Given the description of an element on the screen output the (x, y) to click on. 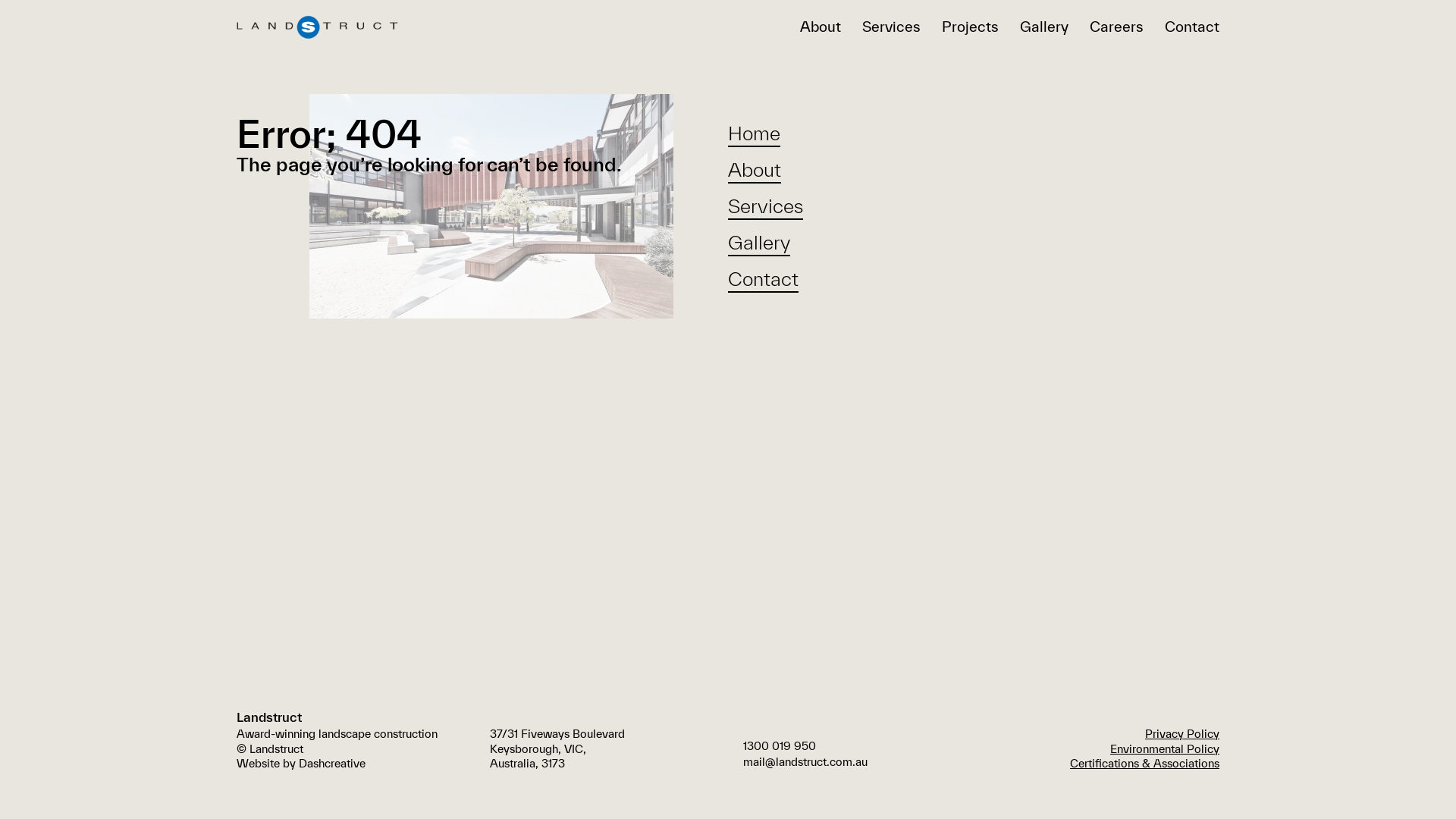
Contact Element type: text (1191, 26)
Dashcreative Element type: text (331, 762)
mail@landstruct.com.au Element type: text (805, 762)
Contact Element type: text (763, 278)
About Element type: text (820, 26)
Environmental Policy Element type: text (1164, 747)
1300 019 950 Element type: text (779, 746)
Landstruct Element type: text (317, 27)
Gallery Element type: text (759, 242)
About Element type: text (754, 169)
Gallery Element type: text (1043, 26)
Services Element type: text (891, 26)
Projects Element type: text (969, 26)
Privacy Policy Element type: text (1182, 733)
Certifications & Associations Element type: text (1144, 762)
Home Element type: text (754, 133)
Careers Element type: text (1116, 26)
Services Element type: text (765, 205)
